Given the description of an element on the screen output the (x, y) to click on. 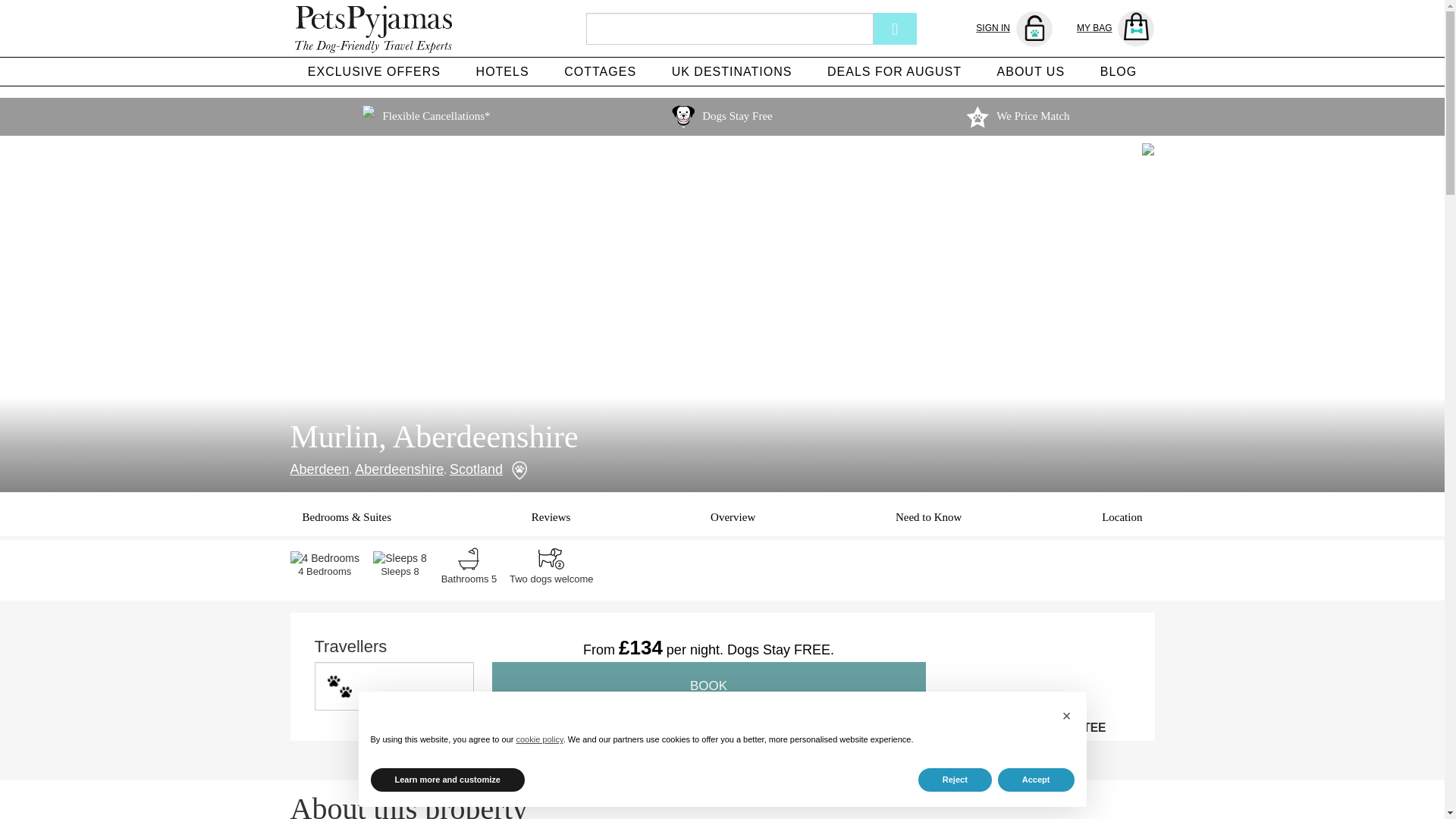
HOTELS (502, 71)
EXCLUSIVE OFFERS (373, 71)
SIGN IN (1013, 28)
MY BAG (1115, 28)
